Given the description of an element on the screen output the (x, y) to click on. 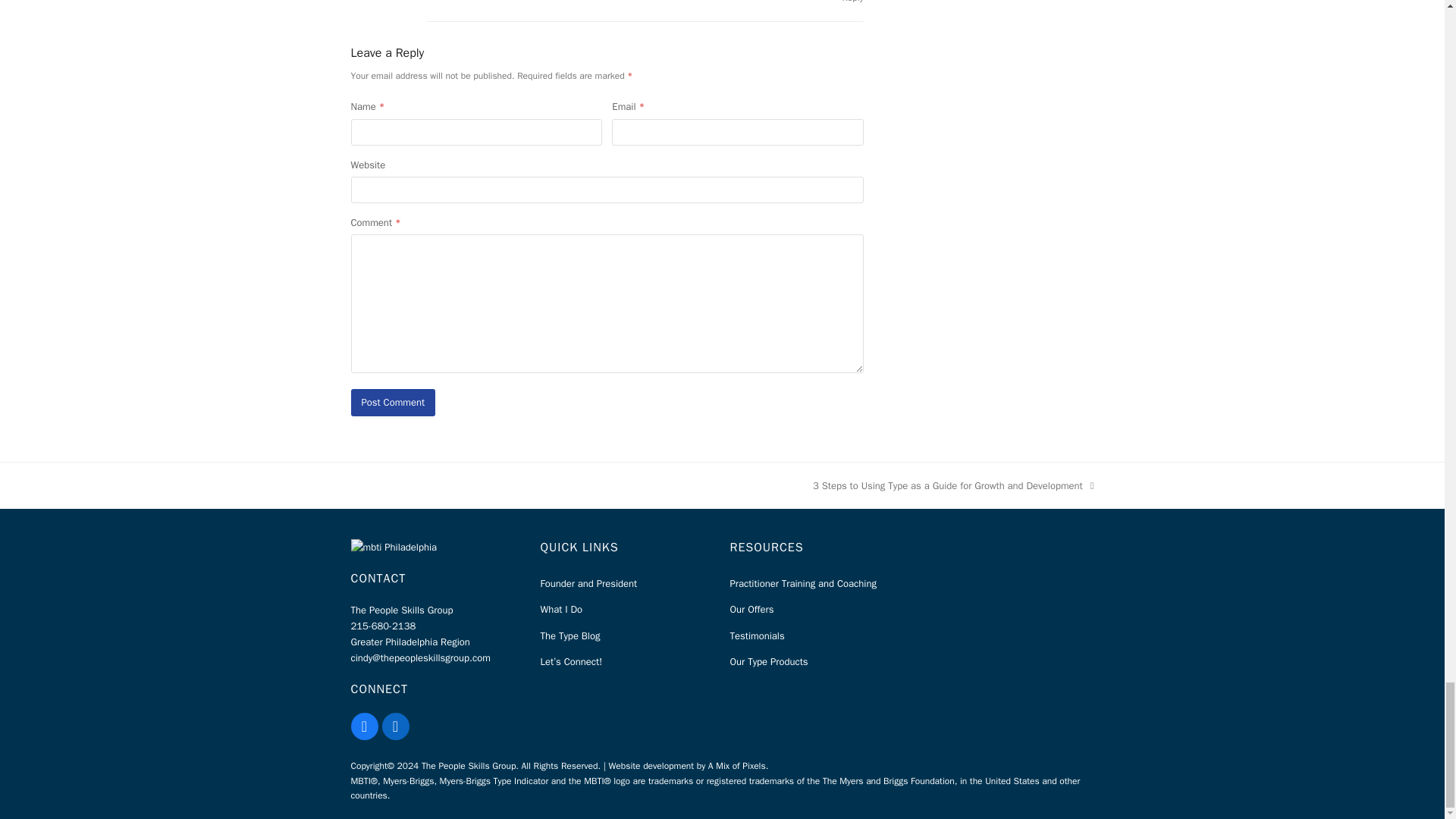
Post Comment (392, 402)
LinkedIn (395, 726)
Facebook (363, 726)
